Given the description of an element on the screen output the (x, y) to click on. 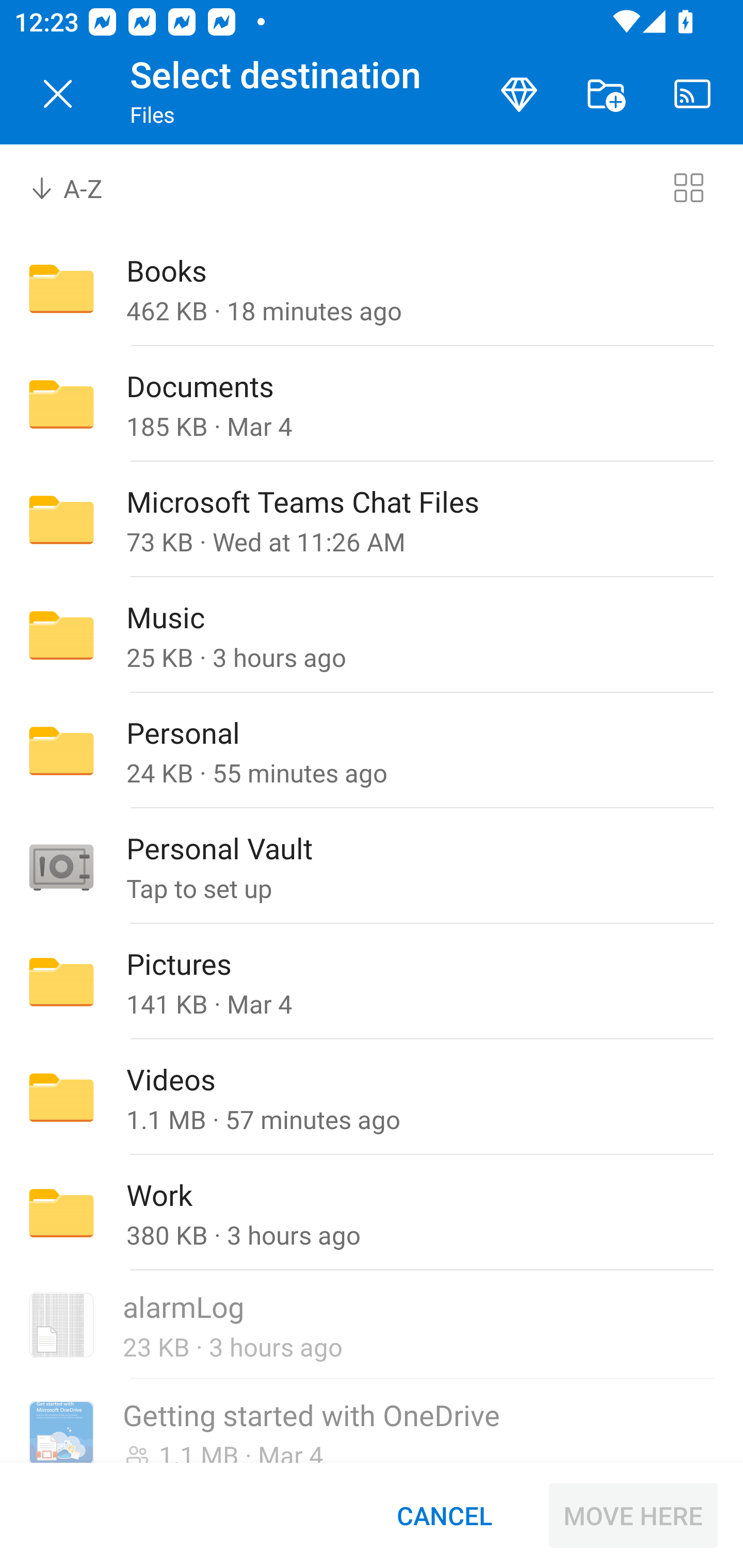
Close (57, 93)
Cast. Disconnected (692, 93)
Premium button (518, 93)
More actions button (605, 93)
A-Z Sort by combo box, sort by name, A to Z (80, 187)
Switch to tiles view (688, 187)
Folder Books 462 KB · 18 minutes ago (371, 288)
Folder Documents 185 KB · Mar 4 (371, 404)
Folder Music 25 KB · 3 hours ago (371, 635)
Folder Personal 24 KB · 55 minutes ago (371, 751)
Folder Personal Vault Tap to set up (371, 866)
Folder Pictures 141 KB · Mar 4 (371, 981)
Folder Videos 1.1 MB · 57 minutes ago (371, 1097)
Folder Work 380 KB · 3 hours ago (371, 1213)
Document alarmLog 23 KB · 3 hours ago (371, 1325)
CANCEL (443, 1515)
MOVE HERE (633, 1515)
